Given the description of an element on the screen output the (x, y) to click on. 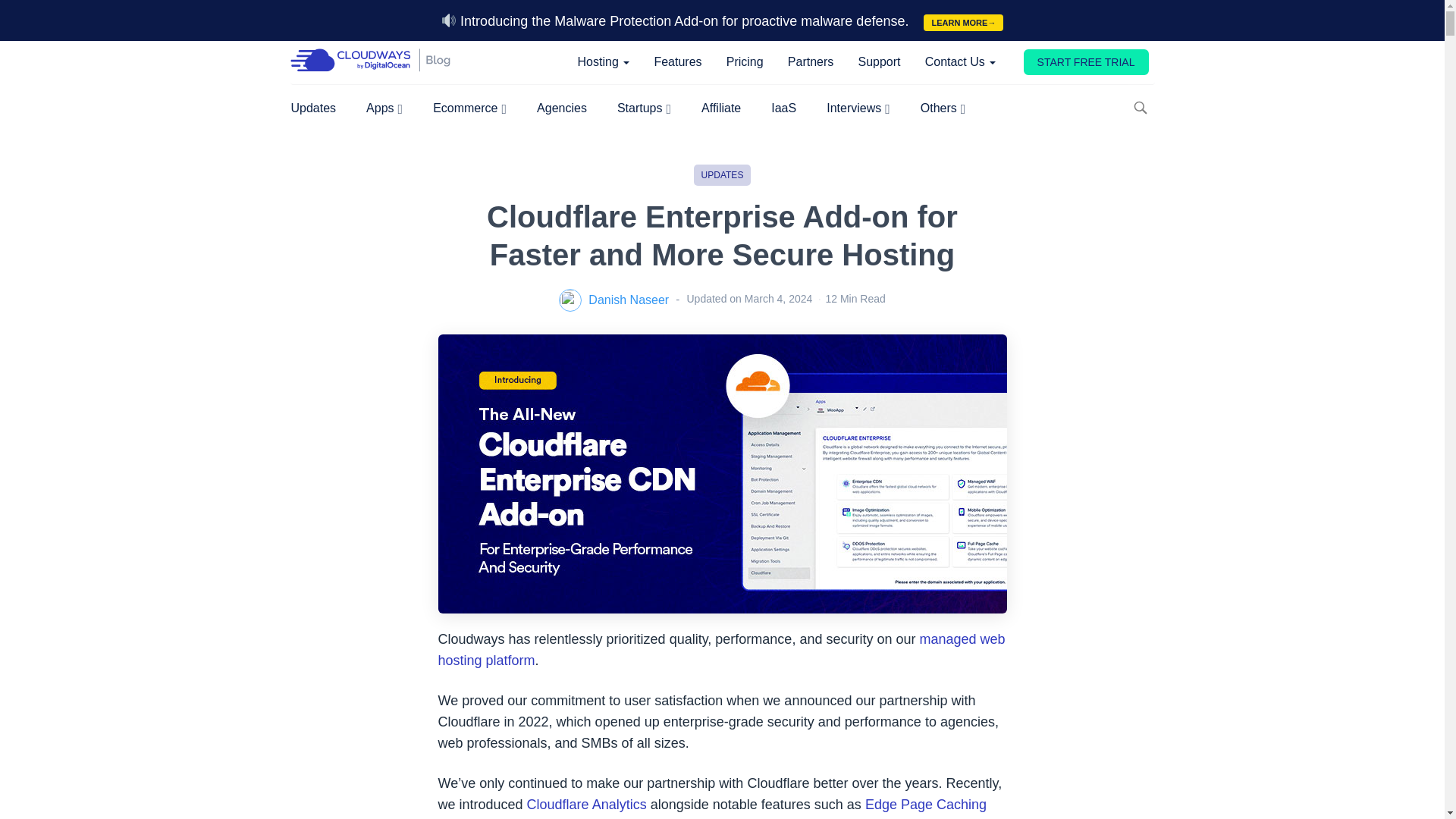
Features (677, 62)
Updates (313, 111)
START FREE TRIAL (1085, 62)
Hosting (603, 62)
Support (878, 62)
Contact Us (960, 62)
Partners (810, 62)
Apps (384, 111)
Pricing (745, 62)
